Given the description of an element on the screen output the (x, y) to click on. 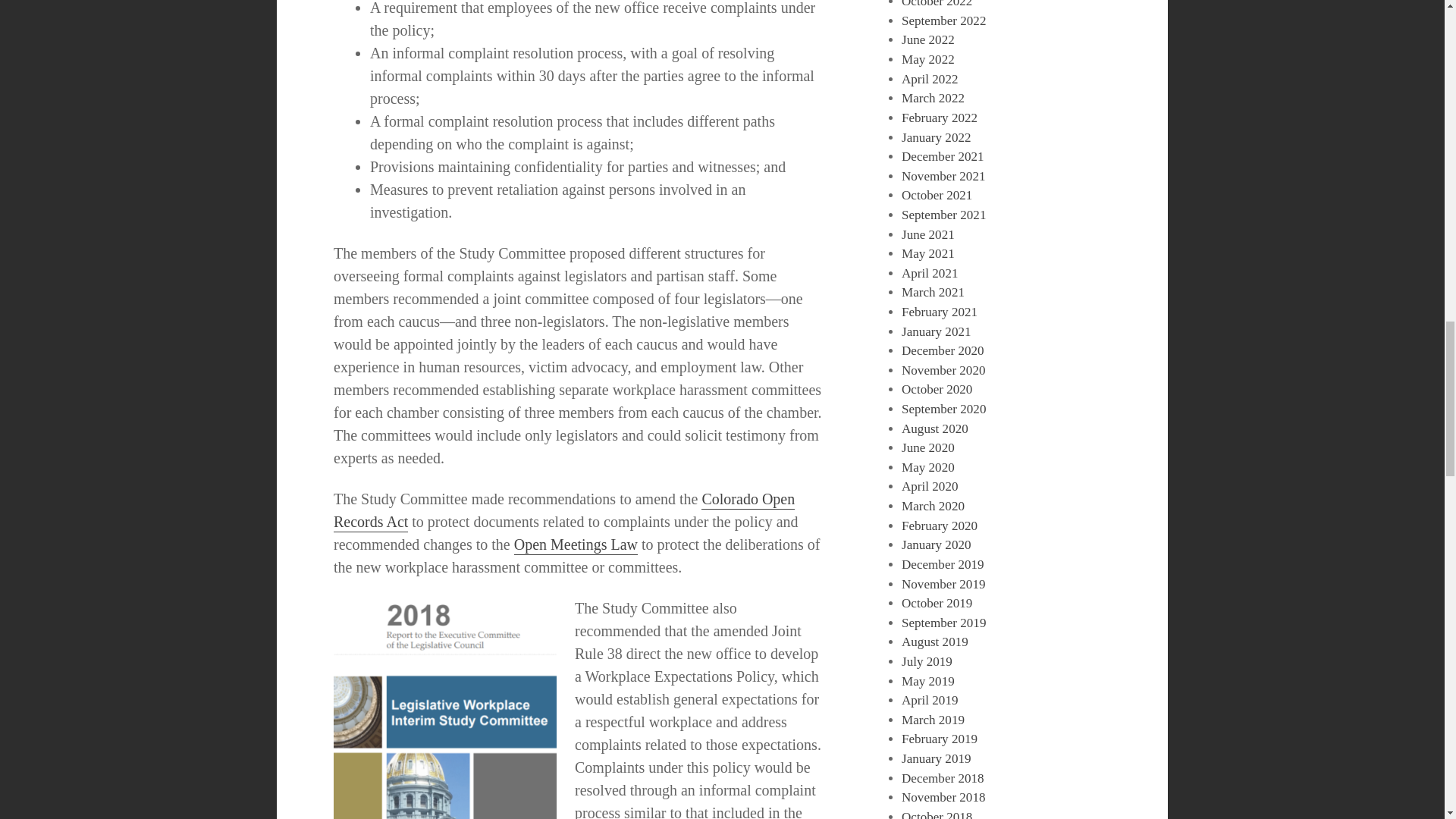
Open Meetings Law (575, 545)
Colorado Open Records Act (563, 511)
